Given the description of an element on the screen output the (x, y) to click on. 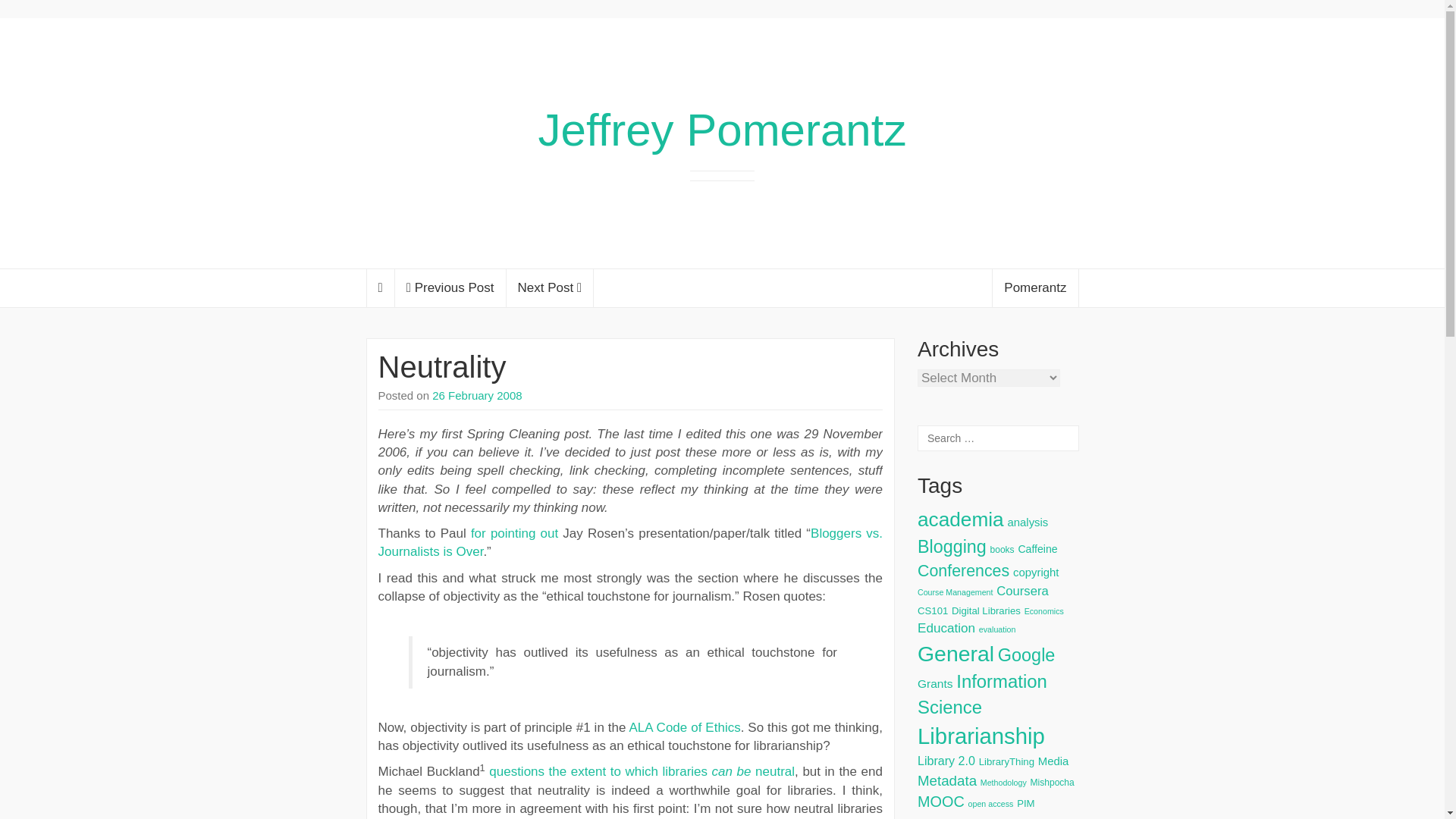
copyright (1036, 571)
books (1002, 549)
Next Post (550, 288)
Search (25, 10)
Grants (935, 683)
Caffeine (1037, 548)
academia (960, 518)
26 February 2008 (476, 395)
Jeffrey Pomerantz (722, 129)
Coursera (1021, 590)
